Given the description of an element on the screen output the (x, y) to click on. 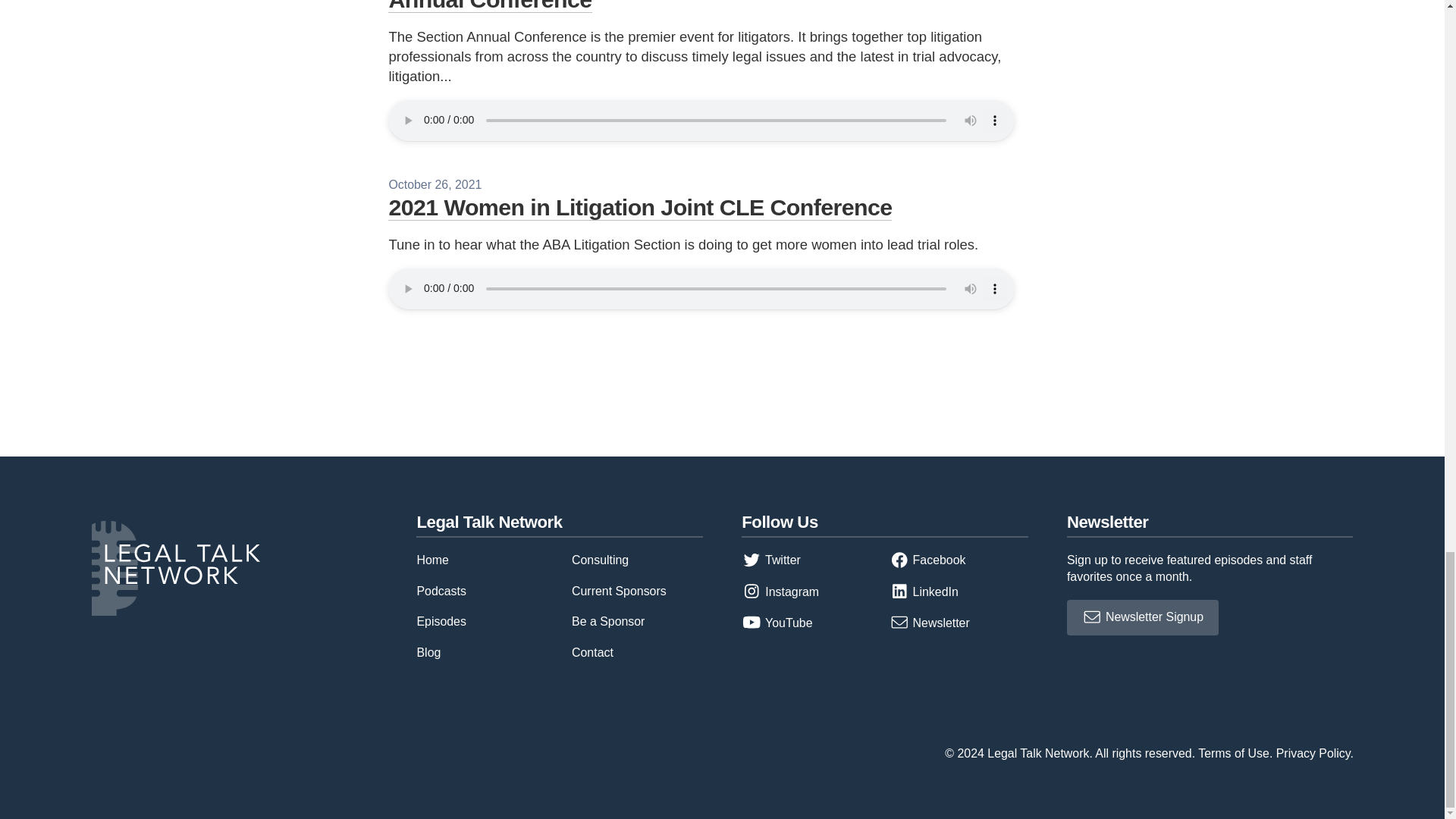
YouTube (776, 622)
Newsletter (929, 622)
Current Sponsors (619, 590)
Twitter (770, 559)
Instagram (779, 591)
Facebook (927, 559)
Be a Sponsor (608, 621)
Consulting (600, 559)
Blog (428, 652)
LinkedIn (923, 591)
Home (432, 559)
Contact (592, 652)
2021 Women in Litigation Joint CLE Conference (639, 207)
Episodes (440, 621)
